Given the description of an element on the screen output the (x, y) to click on. 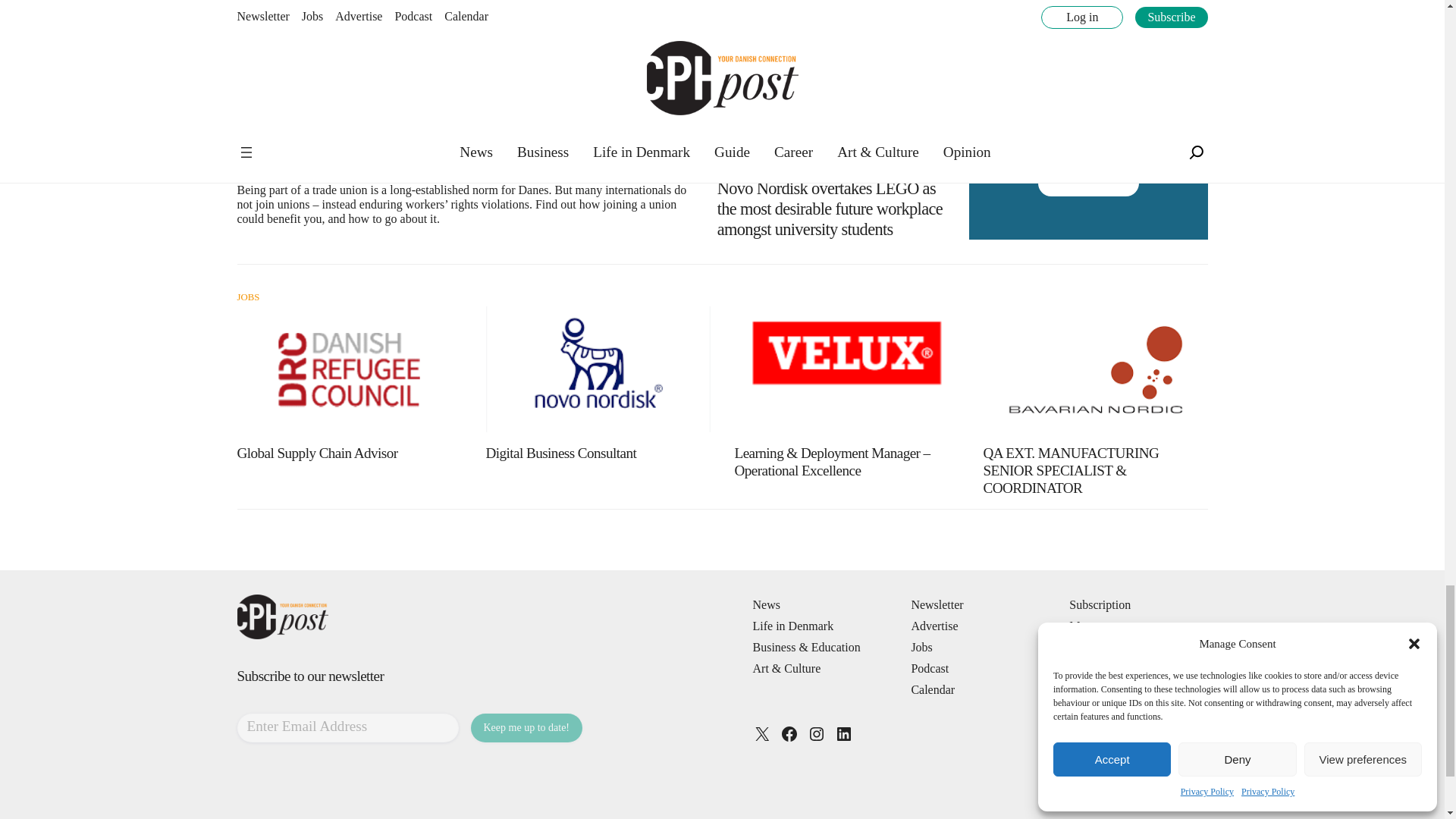
Keep me up to date! (526, 727)
